Given the description of an element on the screen output the (x, y) to click on. 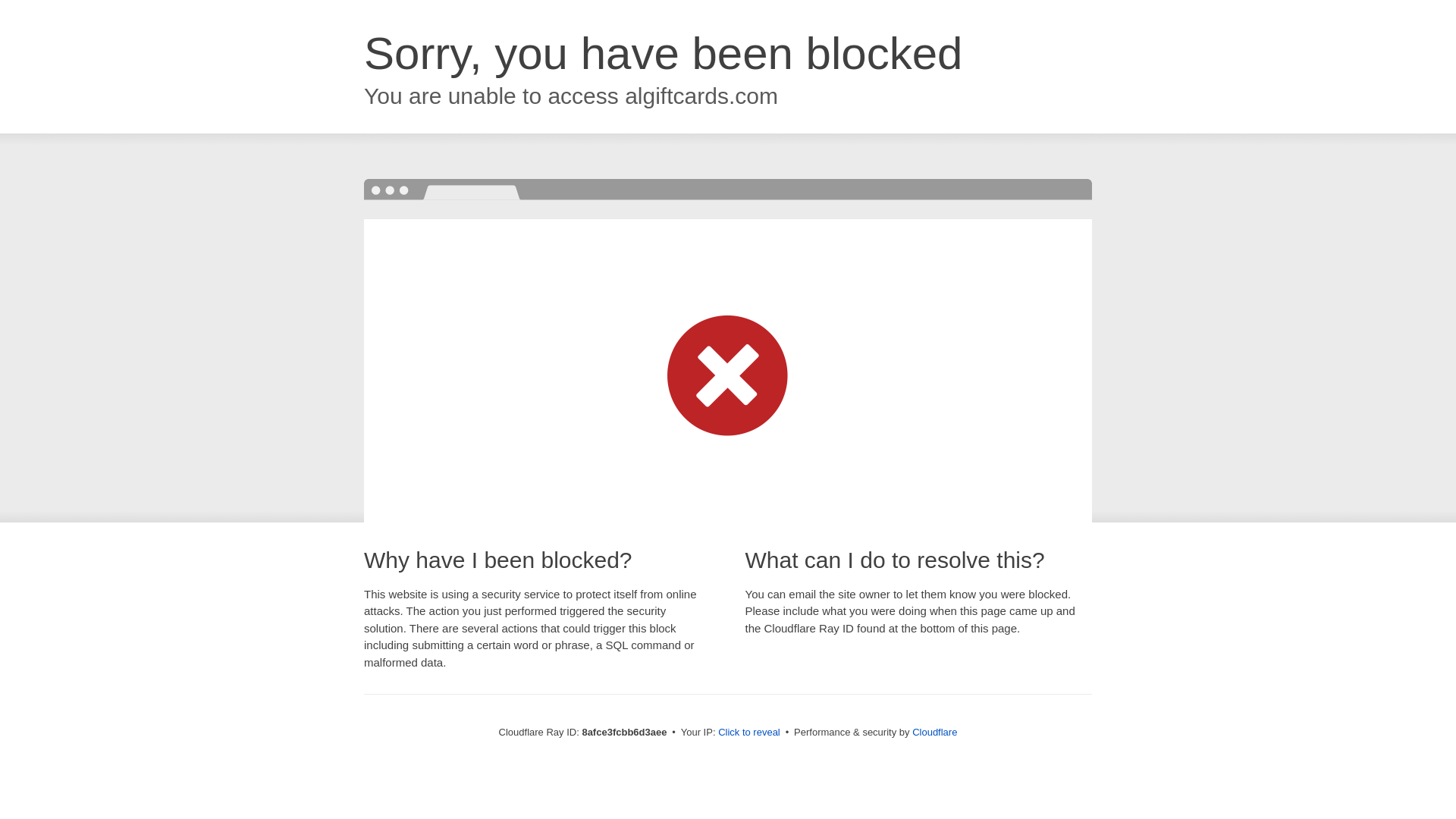
Click to reveal (748, 732)
Cloudflare (934, 731)
